Given the description of an element on the screen output the (x, y) to click on. 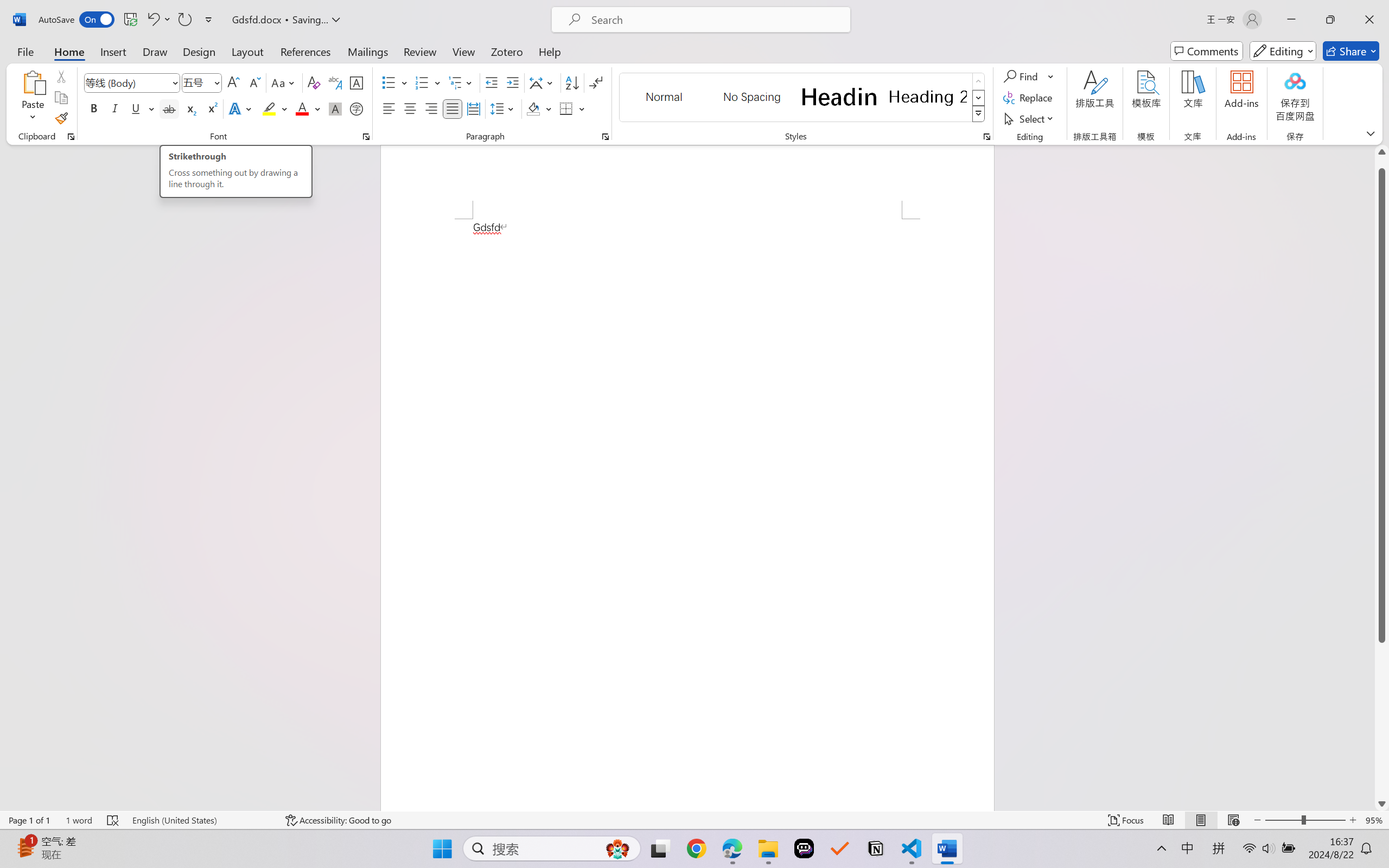
Replace... (1029, 97)
Justify (452, 108)
Font Color Red (302, 108)
Line up (1382, 151)
Phonetic Guide... (334, 82)
Text Effects and Typography (241, 108)
